Given the description of an element on the screen output the (x, y) to click on. 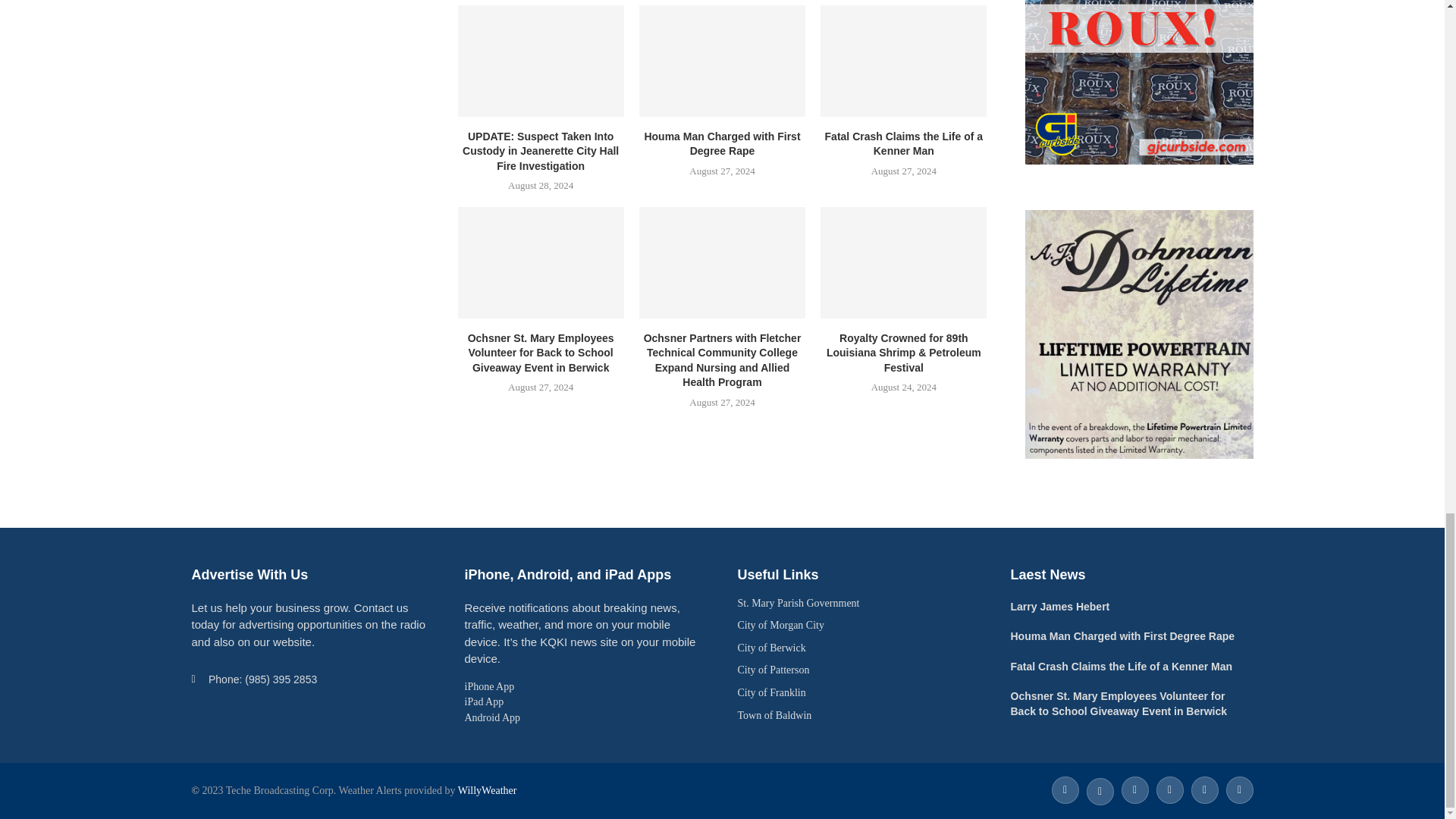
Houma Man Charged with First Degree Rape (722, 60)
Fatal Crash Claims the Life of a Kenner Man (904, 60)
